Given the description of an element on the screen output the (x, y) to click on. 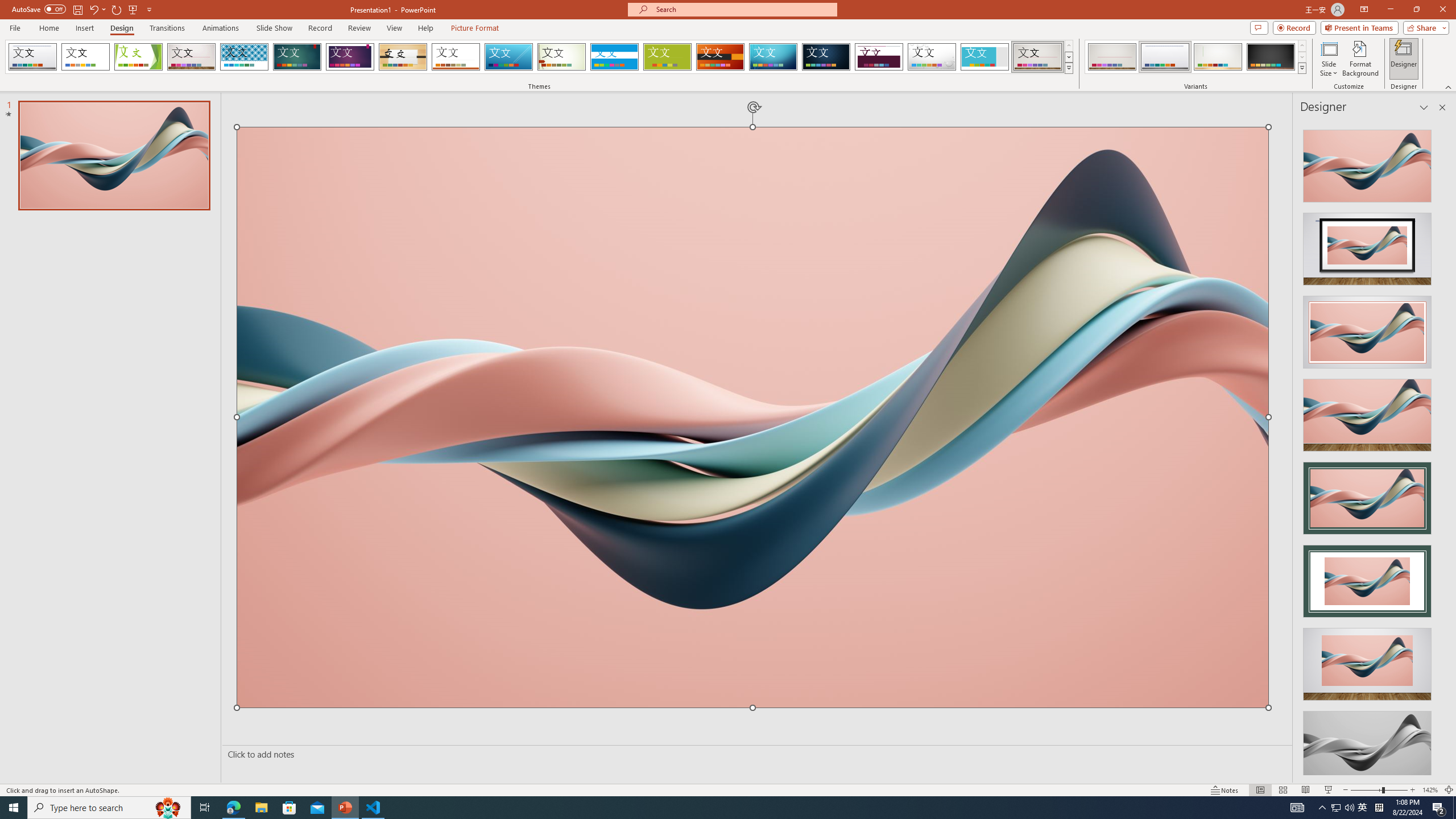
Integral (244, 56)
Zoom 142% (1430, 790)
Class: NetUIScrollBar (1441, 447)
Wavy 3D art (752, 417)
